Given the description of an element on the screen output the (x, y) to click on. 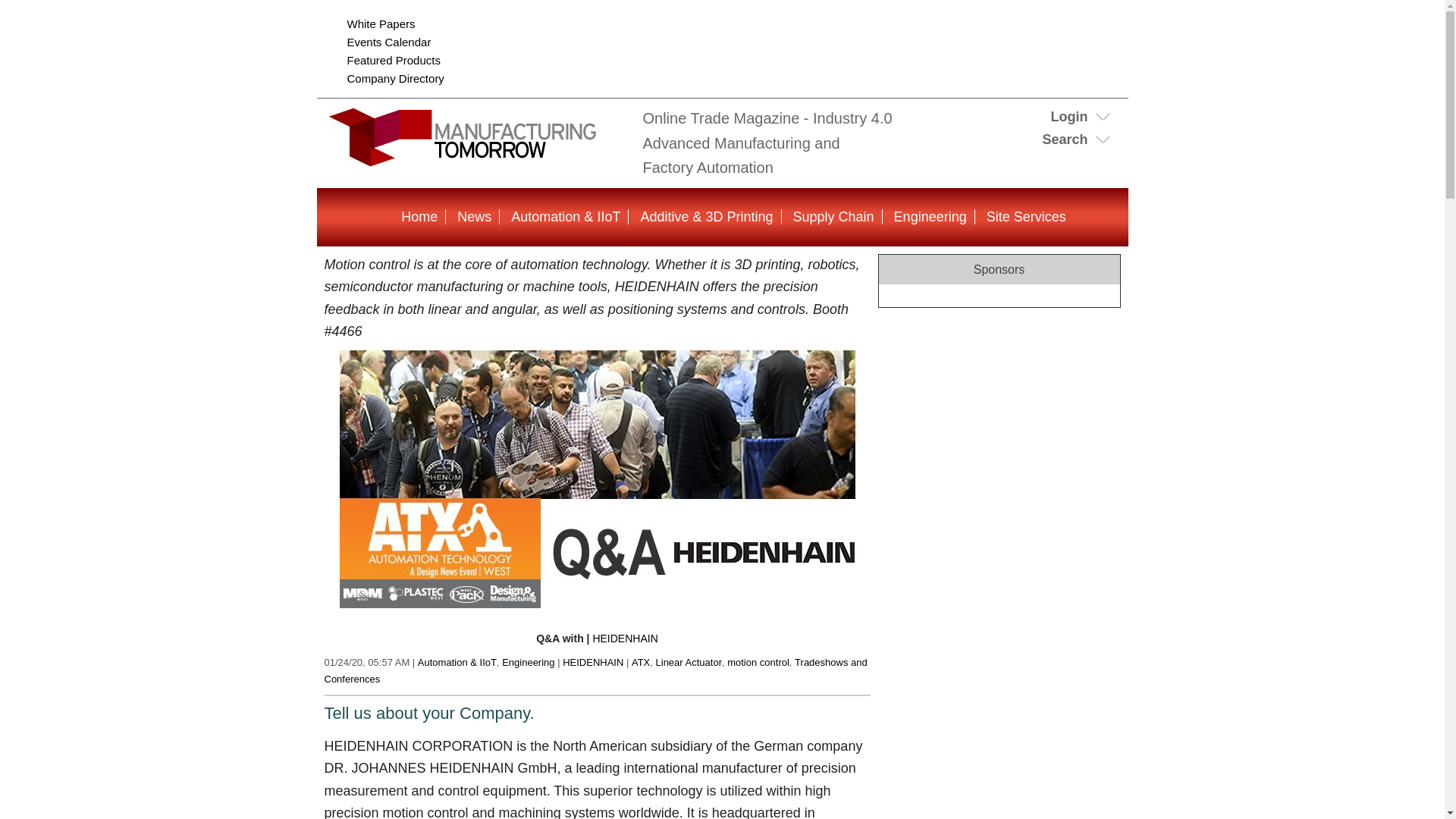
Company Directory (395, 78)
Featured Products (394, 60)
HEIDENHAIN (625, 638)
Site Services (1026, 217)
Engineering (930, 217)
Linear Actuator (689, 662)
motion control (757, 662)
ATX (640, 662)
Supply Chain (834, 217)
Home (419, 217)
